Given the description of an element on the screen output the (x, y) to click on. 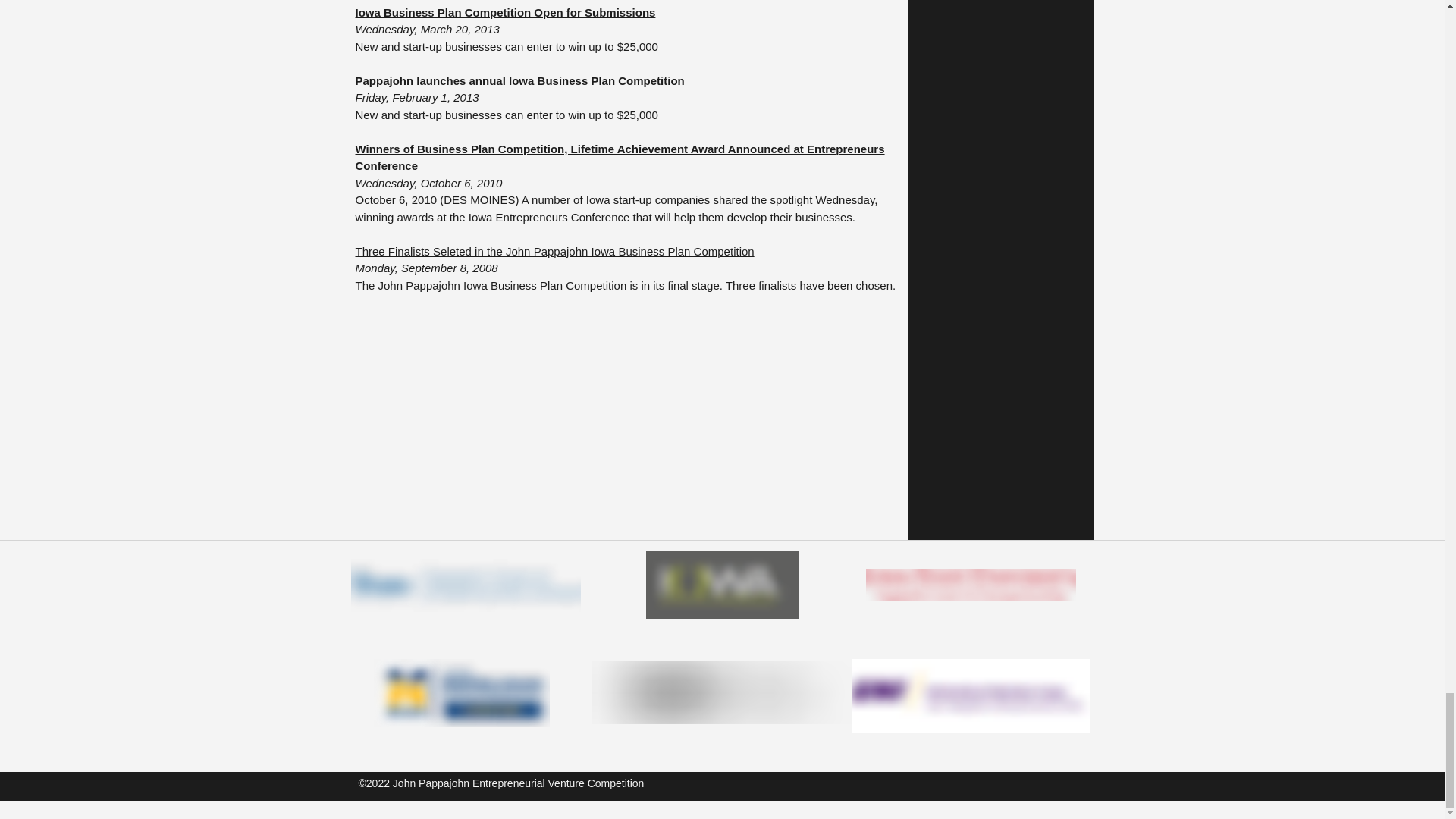
Pappajohn launches annual Iowa Business Plan Competition (519, 80)
ieda-logo-forwebsite.png (721, 584)
Iowa Business Plan Competition Open for Submissions (505, 11)
UNI-jpec.png (969, 696)
